Given the description of an element on the screen output the (x, y) to click on. 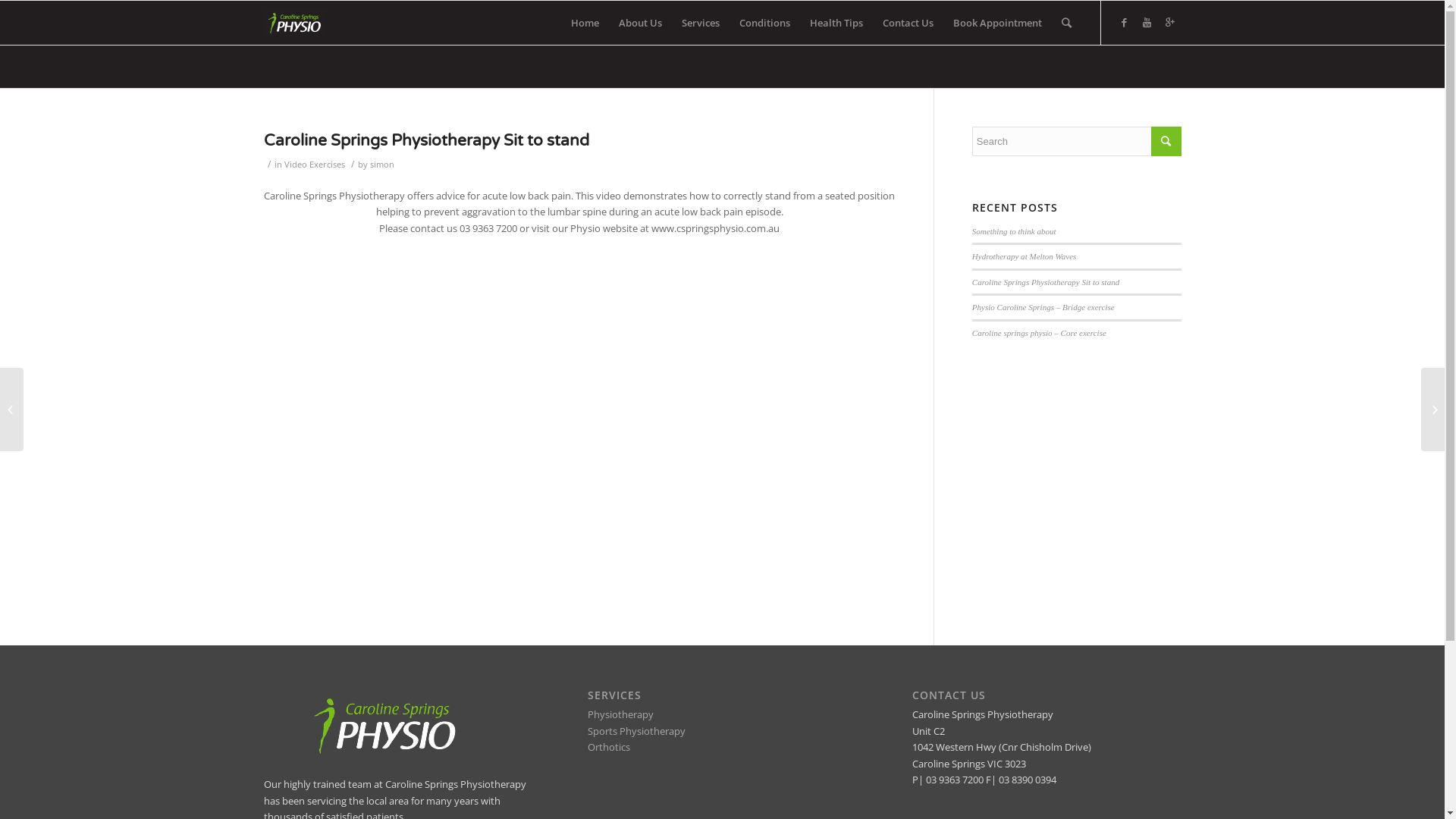
Caroline Springs Physiotherapy Sit to stand Element type: text (426, 140)
simon Element type: text (382, 164)
Something to think about Element type: text (1014, 230)
Orthotics Element type: text (608, 746)
Caroline Springs Physiotherapy Sit to stand Element type: text (1045, 281)
Hydrotherapy at Melton Waves Element type: text (1024, 255)
Conditions Element type: text (764, 22)
Book Appointment Element type: text (997, 22)
Contact Us Element type: text (907, 22)
About Us Element type: text (639, 22)
Home Element type: text (584, 22)
Youtube Element type: hover (1146, 21)
Gplus Element type: hover (1169, 21)
Video Exercises Element type: text (313, 164)
Physiotherapy Element type: text (620, 714)
Facebook Element type: hover (1124, 21)
Services Element type: text (700, 22)
Health Tips Element type: text (835, 22)
Sports Physiotherapy Element type: text (636, 730)
